Given the description of an element on the screen output the (x, y) to click on. 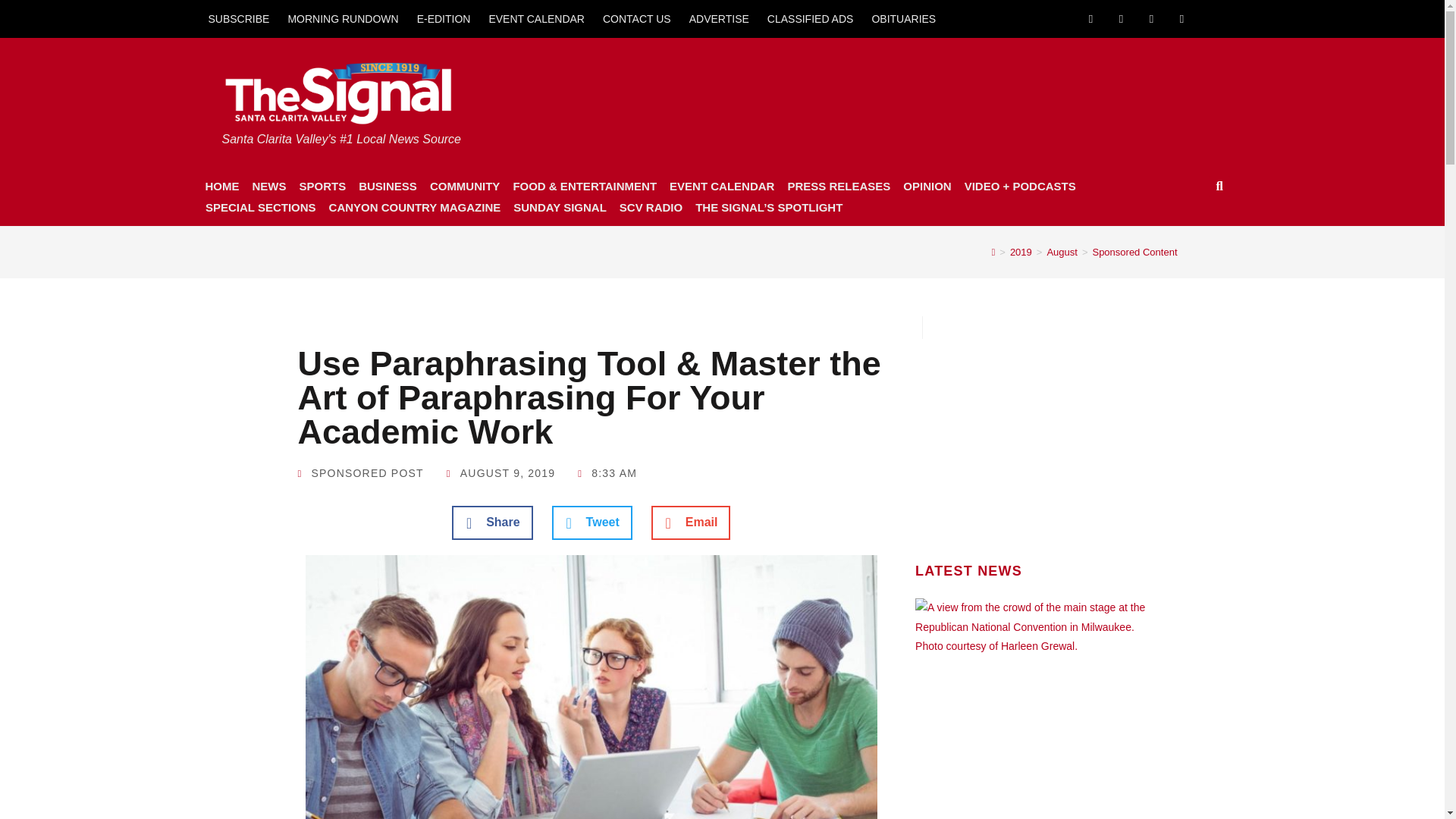
ADVERTISE (718, 18)
NEWS (269, 186)
MORNING RUNDOWN (342, 18)
HOME (221, 186)
CLASSIFIED ADS (810, 18)
SPORTS (322, 186)
CONTACT US (636, 18)
OBITUARIES (902, 18)
SUBSCRIBE (238, 18)
EVENT CALENDAR (536, 18)
E-EDITION (443, 18)
